Given the description of an element on the screen output the (x, y) to click on. 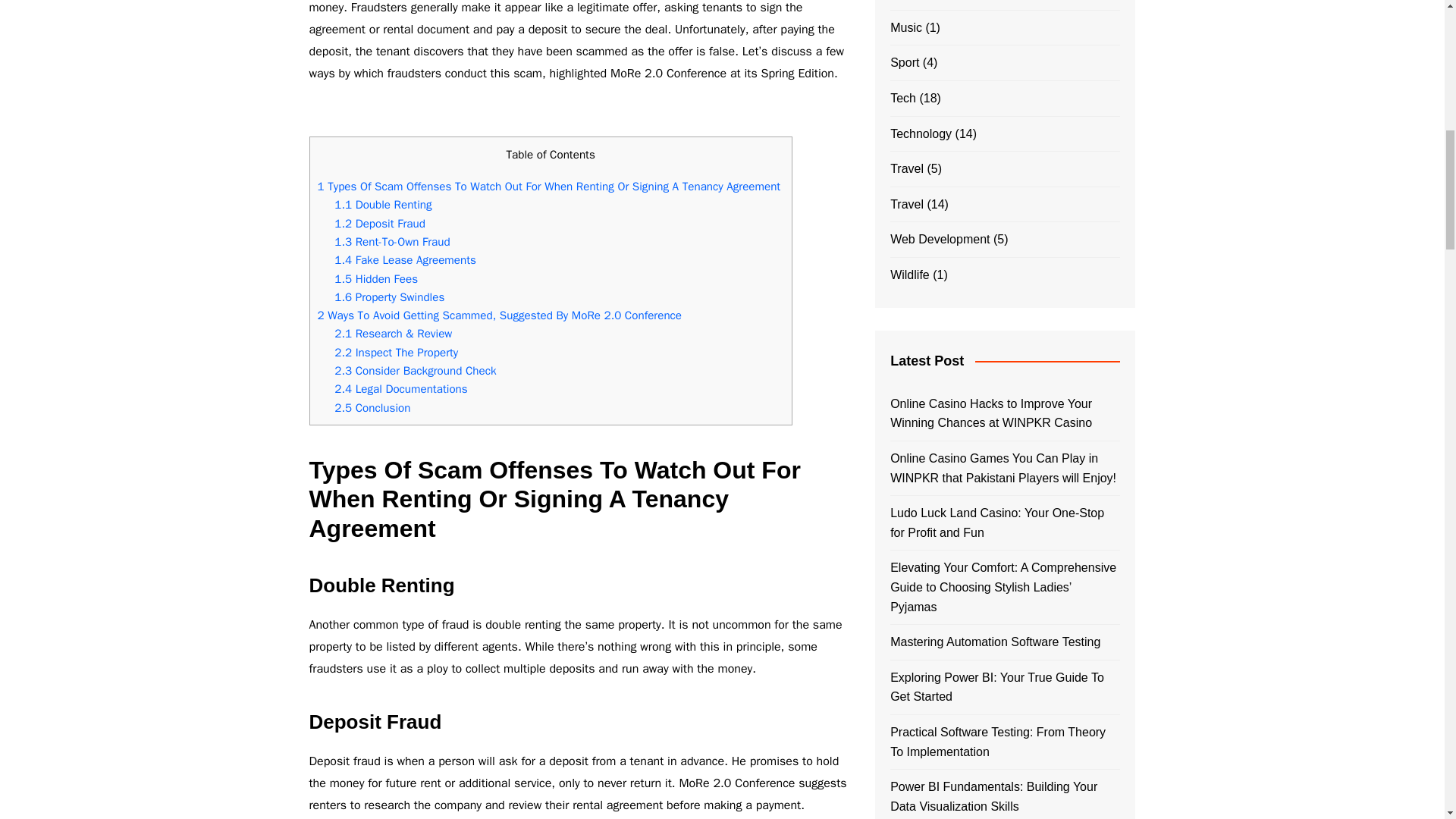
1.5 Hidden Fees (375, 278)
1.2 Deposit Fraud (379, 223)
1.1 Double Renting (382, 204)
1.6 Property Swindles (389, 296)
1.4 Fake Lease Agreements (405, 259)
2.2 Inspect The Property (396, 352)
2.5 Conclusion (372, 407)
1.3 Rent-To-Own Fraud (391, 241)
